Given the description of an element on the screen output the (x, y) to click on. 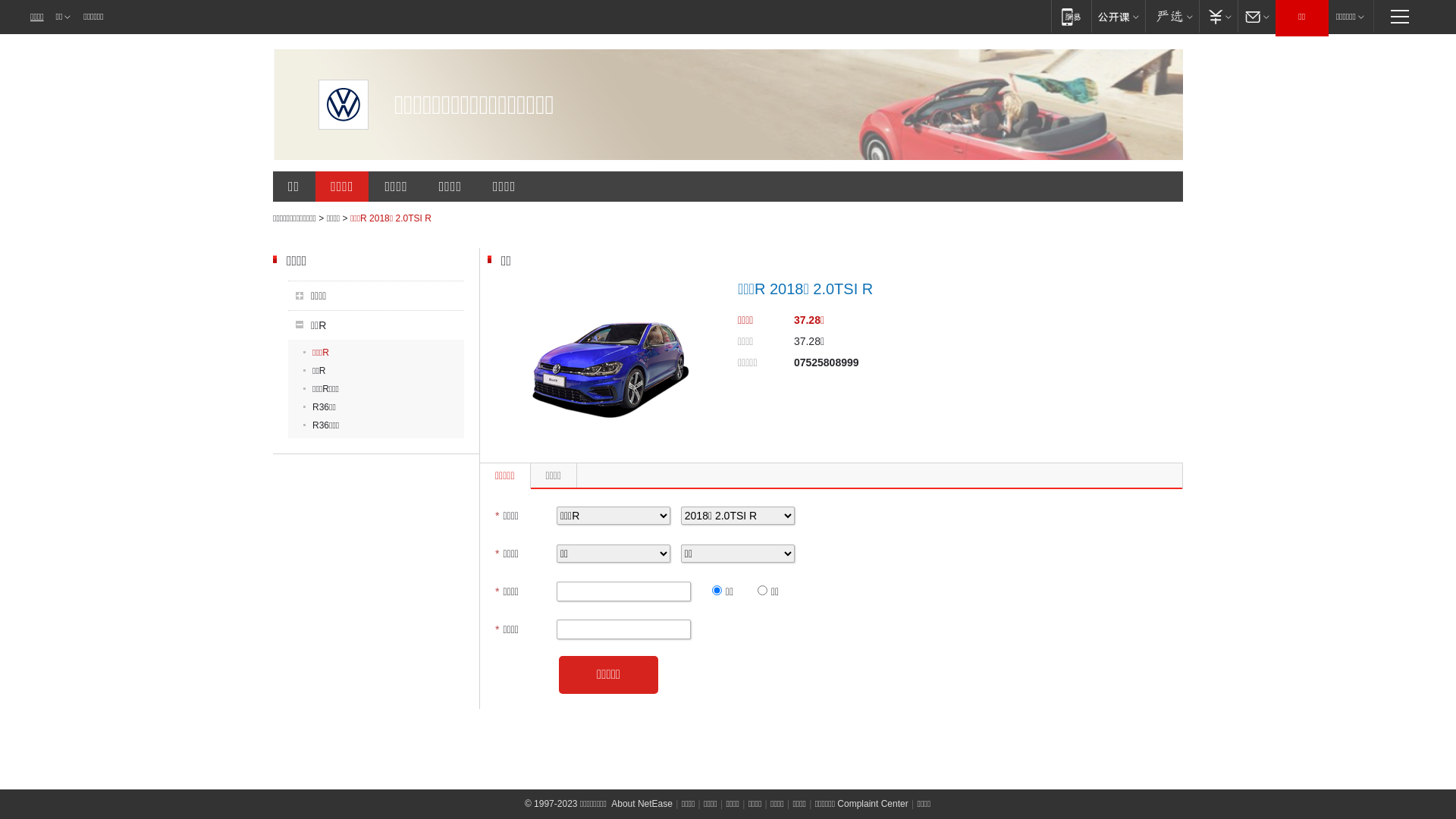
About NetEase Element type: text (641, 803)
